Given the description of an element on the screen output the (x, y) to click on. 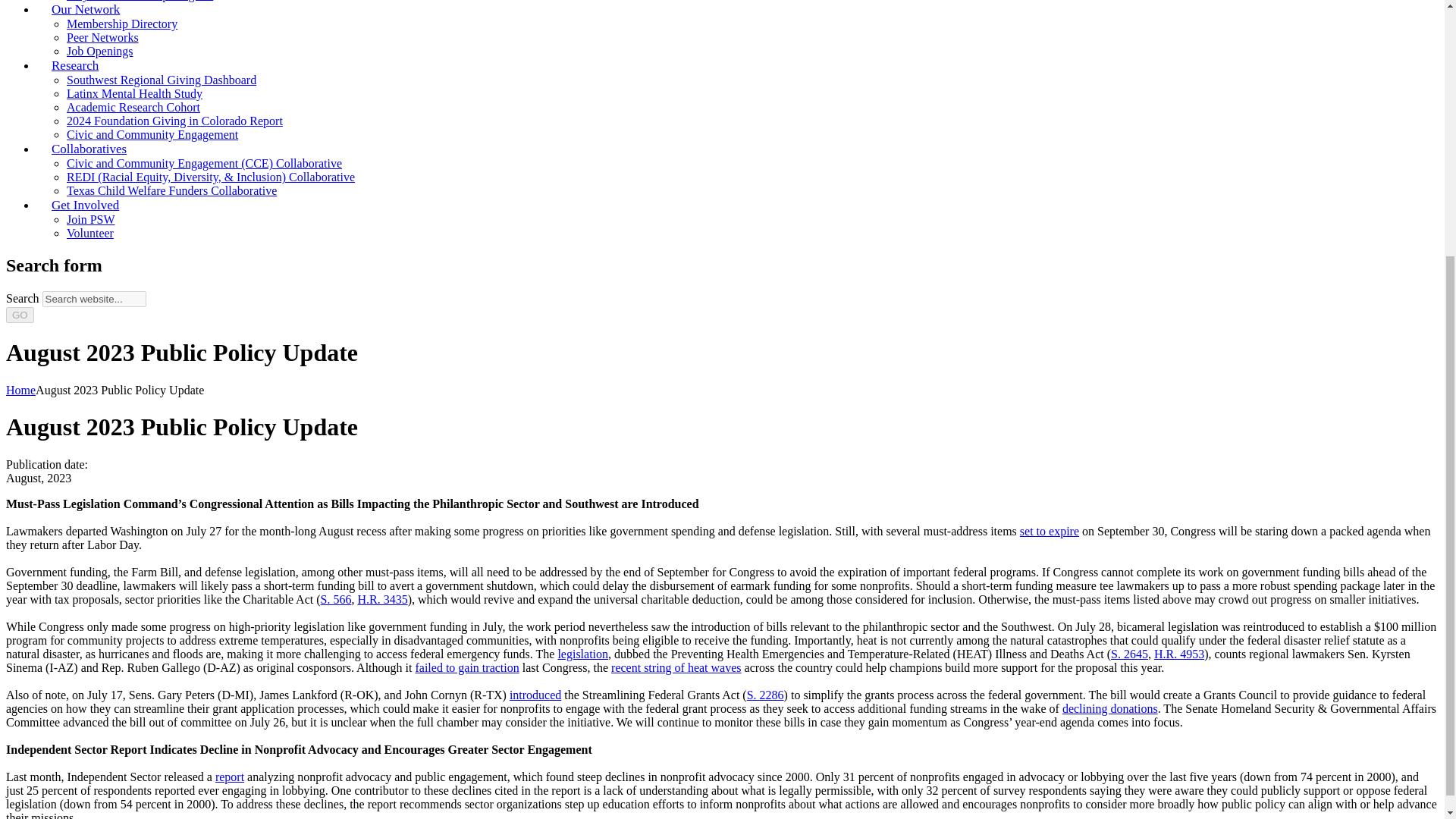
Texas Child Welfare Funders Collaborative (171, 190)
Job Openings (99, 51)
Latinx Mental Health Study (134, 92)
Wayfarer Leadership Program (139, 0)
Academic Research Cohort (133, 106)
Civic and Community Engagement (152, 133)
Peer Networks (102, 37)
Collaboratives (88, 148)
Research (74, 65)
Southwest Regional Giving Dashboard (161, 79)
